Given the description of an element on the screen output the (x, y) to click on. 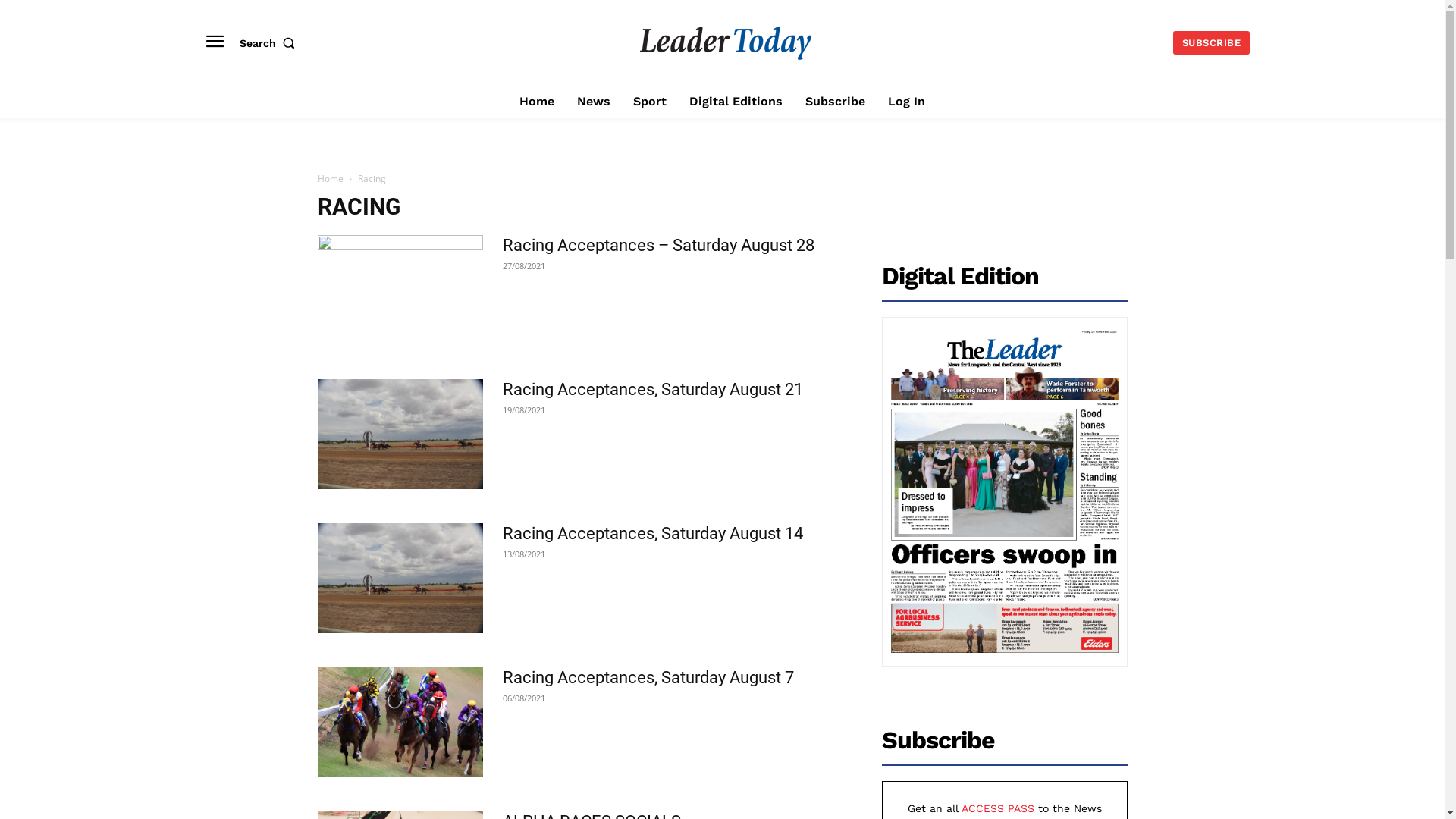
Racing Acceptances, Saturday August 7 Element type: hover (399, 721)
News Element type: text (593, 101)
Racing Acceptances, Saturday August 21 Element type: hover (399, 434)
Racing Acceptances, Saturday August 14 Element type: hover (399, 578)
Log In Element type: text (906, 101)
Racing Acceptances, Saturday August 7 Element type: text (647, 677)
Racing Acceptances, Saturday August 14 Element type: text (652, 533)
Home Element type: text (329, 178)
Home Element type: text (536, 101)
Search Element type: text (270, 43)
Digital Editions Element type: text (735, 101)
Sport Element type: text (649, 101)
Subscribe Element type: text (834, 101)
Racing Acceptances, Saturday August 21 Element type: text (652, 388)
SUBSCRIBE Element type: text (1211, 42)
